Given the description of an element on the screen output the (x, y) to click on. 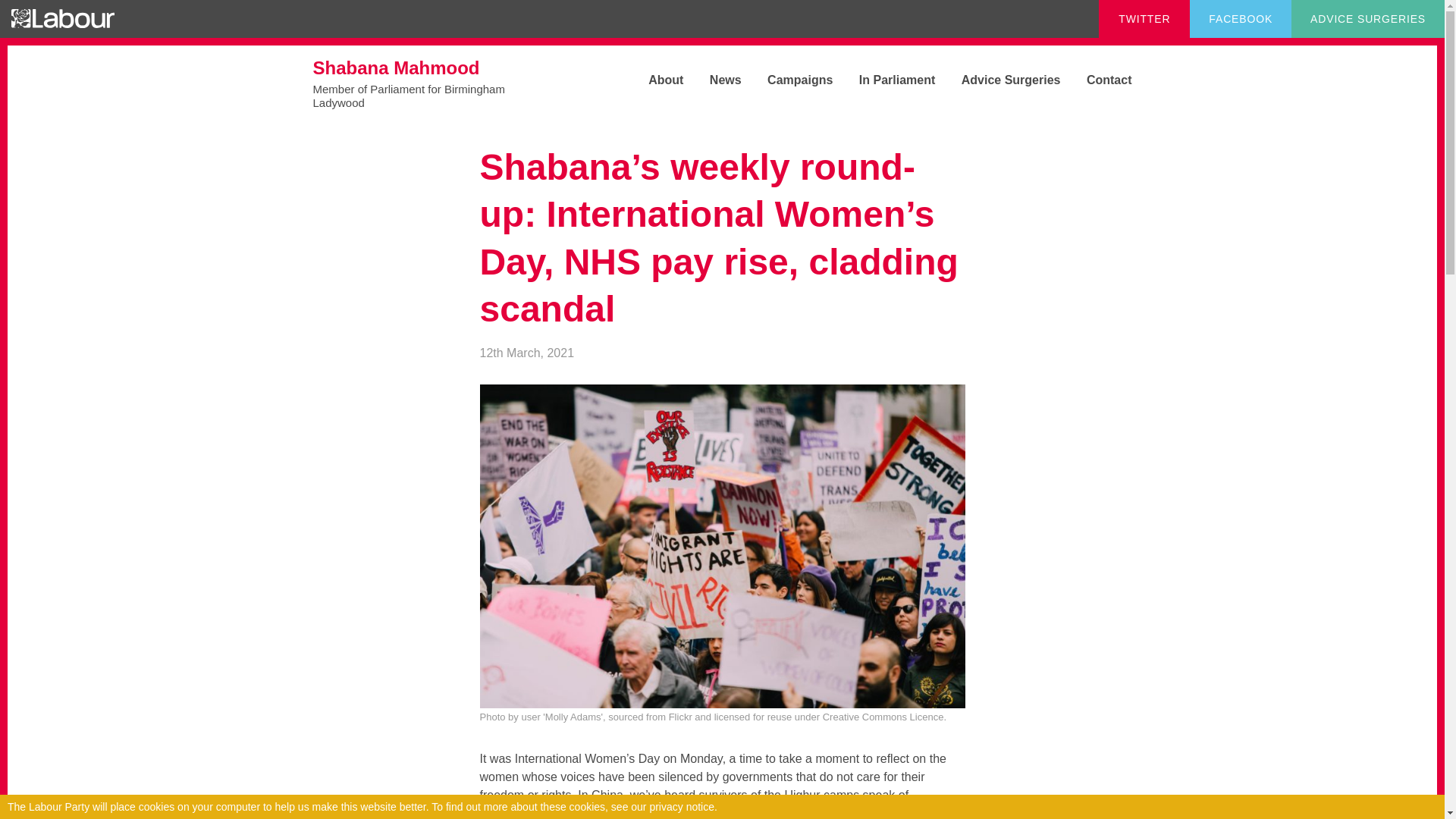
News (714, 79)
About (654, 79)
Campaigns (788, 79)
Contact (426, 82)
In Parliament (1098, 79)
TWITTER (884, 79)
Advice Surgeries (1144, 18)
FACEBOOK (1000, 79)
